Given the description of an element on the screen output the (x, y) to click on. 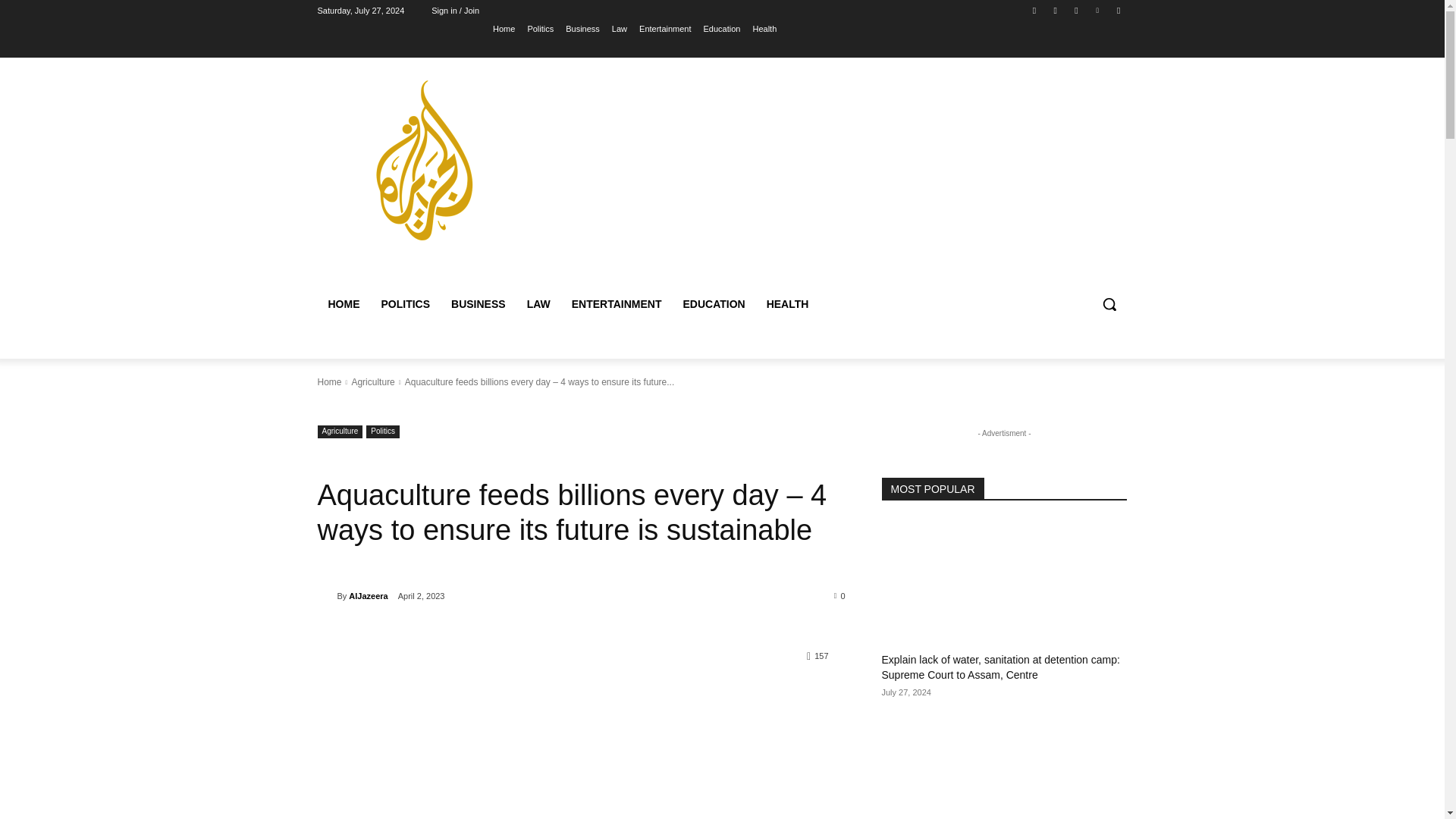
0 (839, 594)
AlJazeera (326, 595)
Education (722, 28)
Agriculture (372, 381)
Twitter (1075, 9)
Facebook (1034, 9)
ENTERTAINMENT (616, 303)
Home (328, 381)
Vimeo (1097, 9)
View all posts in Agriculture (372, 381)
LAW (538, 303)
Entertainment (664, 28)
Agriculture (339, 431)
POLITICS (405, 303)
Instagram (1055, 9)
